Given the description of an element on the screen output the (x, y) to click on. 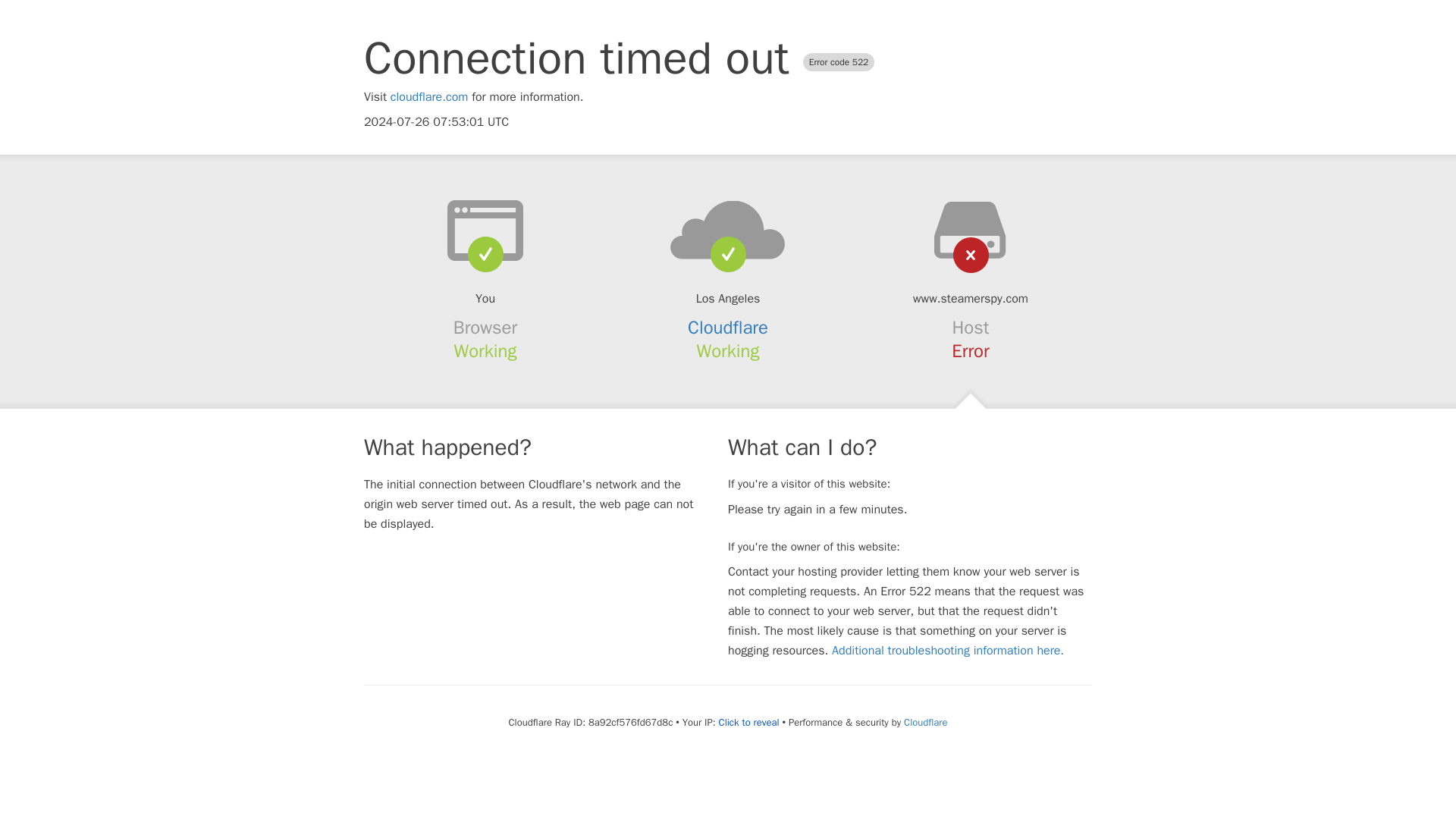
Additional troubleshooting information here. (947, 650)
Cloudflare (727, 327)
cloudflare.com (429, 96)
Click to reveal (748, 722)
Cloudflare (925, 721)
